Given the description of an element on the screen output the (x, y) to click on. 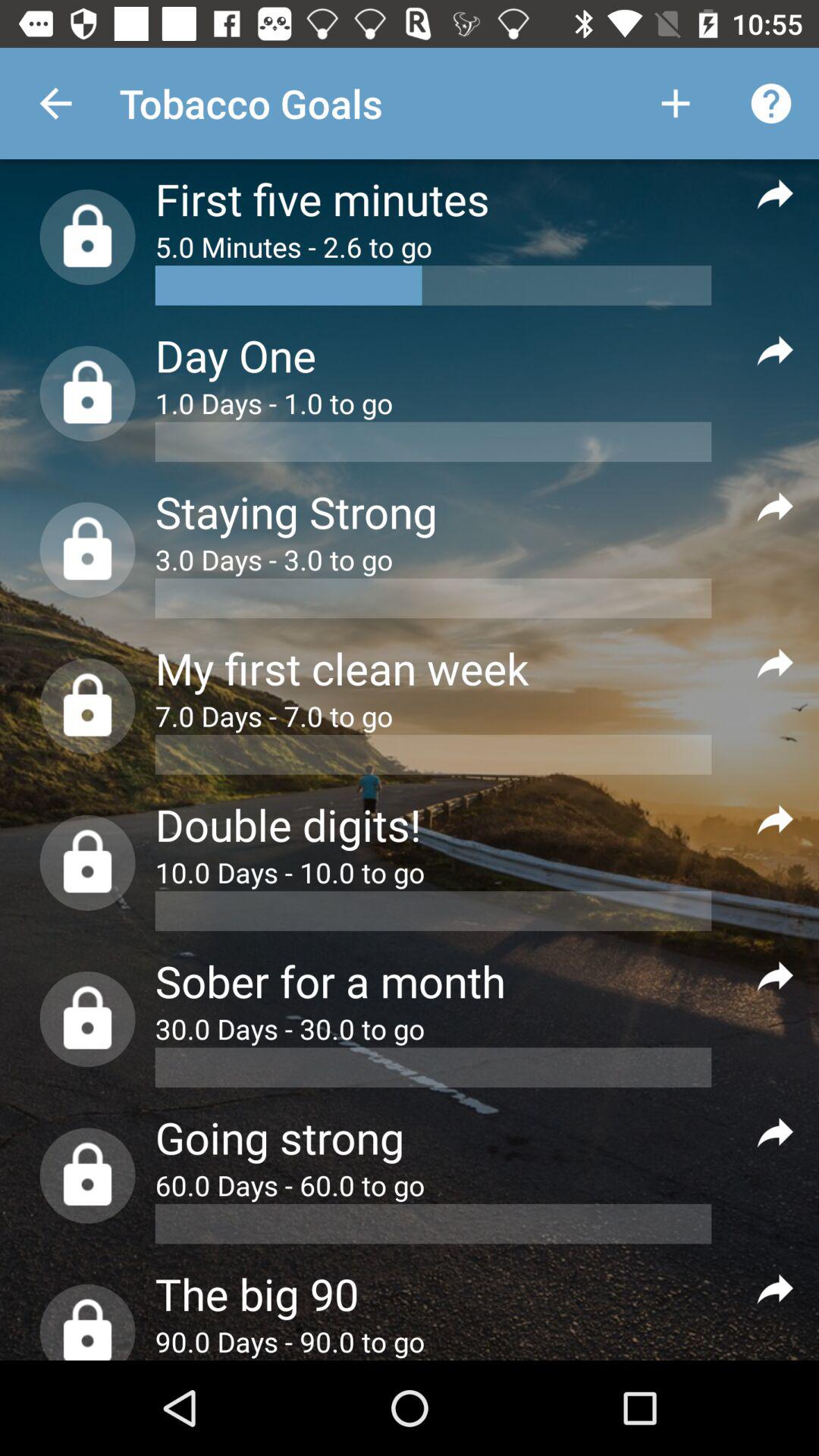
get more info about the goal (775, 349)
